Given the description of an element on the screen output the (x, y) to click on. 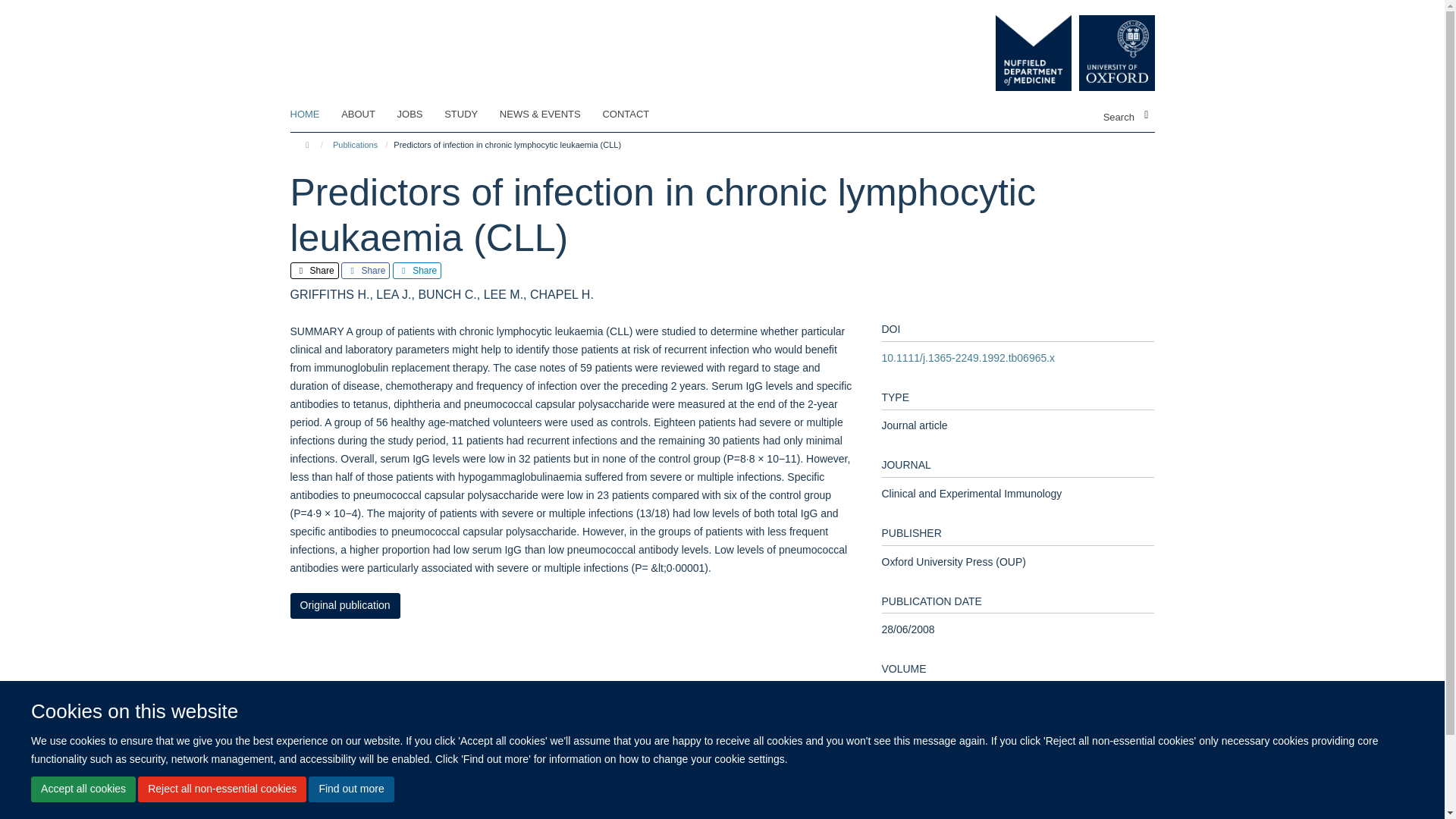
ABOUT (367, 114)
Reject all non-essential cookies (221, 789)
Accept all cookies (82, 789)
HOME (313, 114)
Find out more (350, 789)
